Given the description of an element on the screen output the (x, y) to click on. 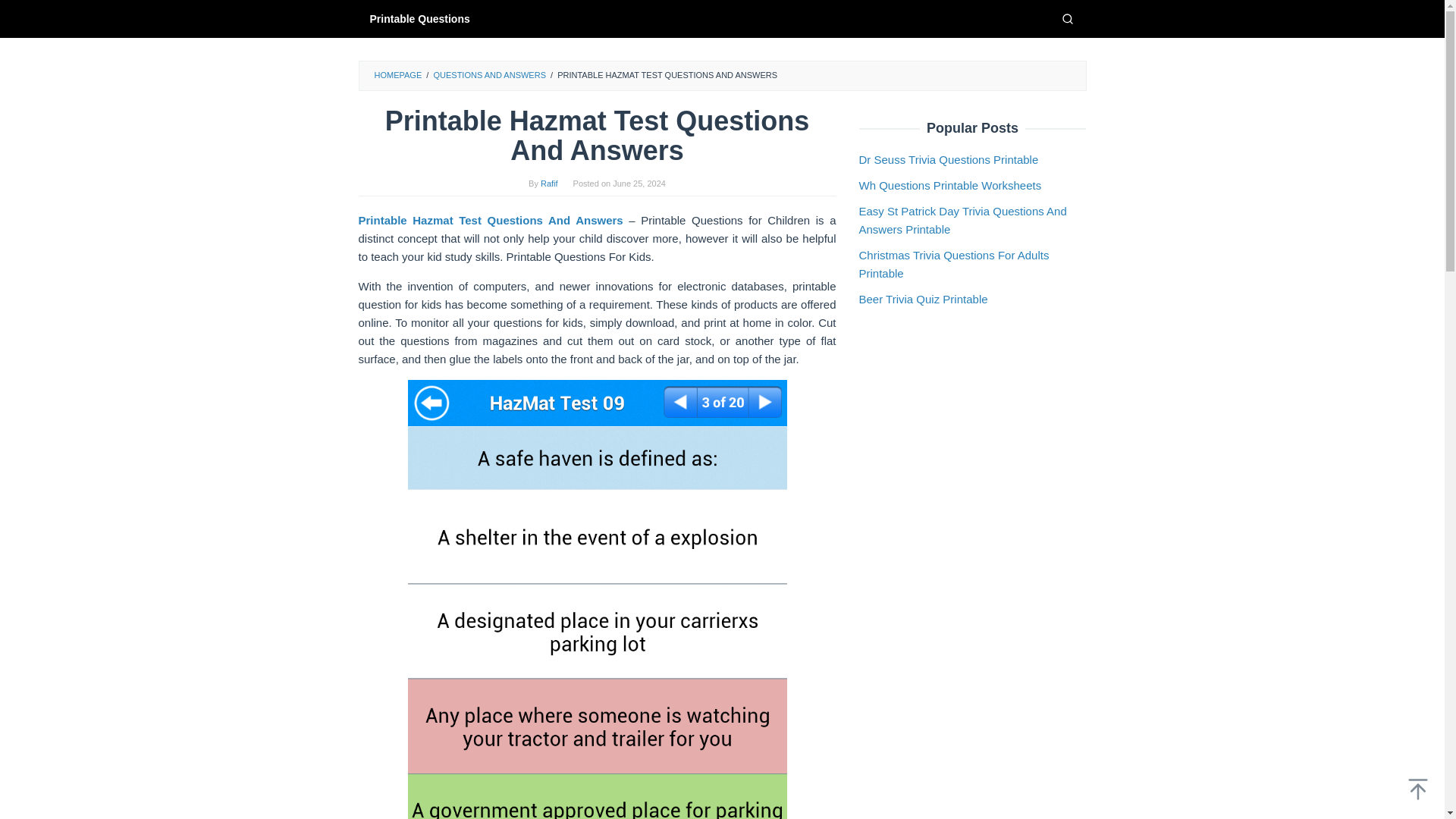
HOMEPAGE (398, 74)
Search (1067, 18)
Wh Questions Printable Worksheets (950, 185)
Dr Seuss Trivia Questions Printable (948, 159)
Printable Hazmat Test Questions And Answers (490, 219)
Printable Questions (419, 18)
Christmas Trivia Questions For Adults Printable (953, 264)
Rafif (548, 183)
Permalink to: Rafif (548, 183)
Beer Trivia Quiz Printable (923, 298)
